Given the description of an element on the screen output the (x, y) to click on. 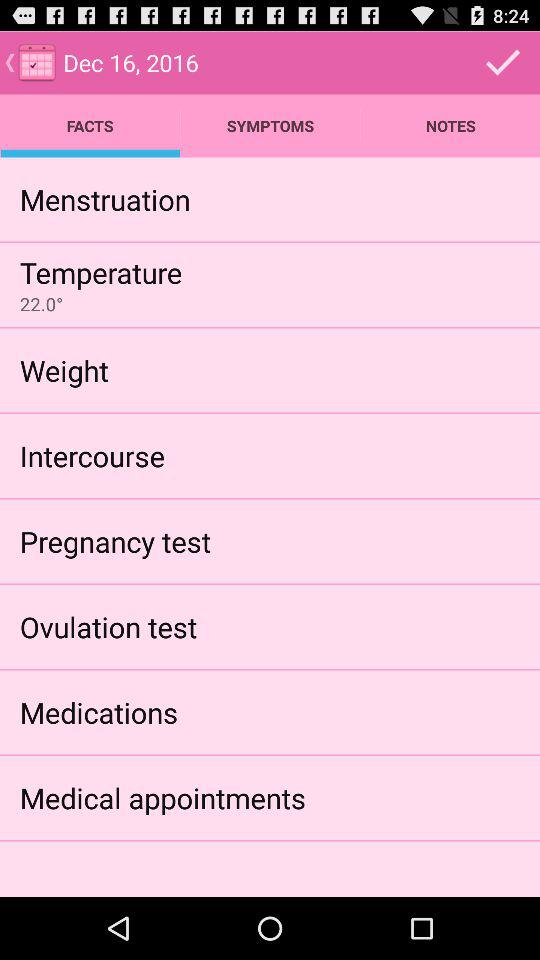
select temperature (100, 272)
